Given the description of an element on the screen output the (x, y) to click on. 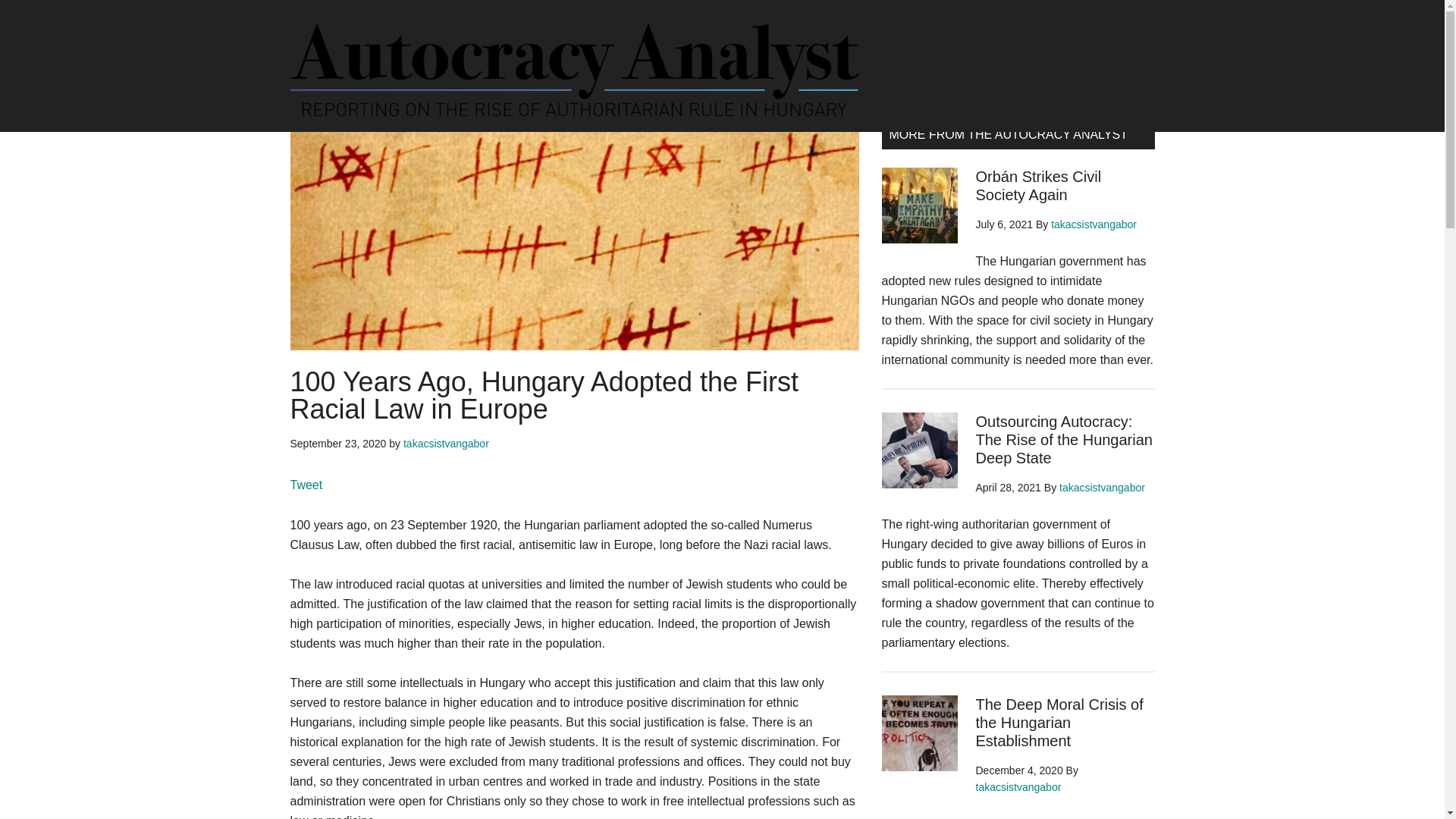
The Deep Moral Crisis of the Hungarian Establishment (1058, 722)
takacsistvangabor (1101, 487)
takacsistvangabor (446, 443)
Read more about us! (1002, 78)
Tweet (305, 484)
takacsistvangabor (1094, 224)
takacsistvangabor (1018, 787)
Outsourcing Autocracy: The Rise of the Hungarian Deep State (1063, 439)
